Given the description of an element on the screen output the (x, y) to click on. 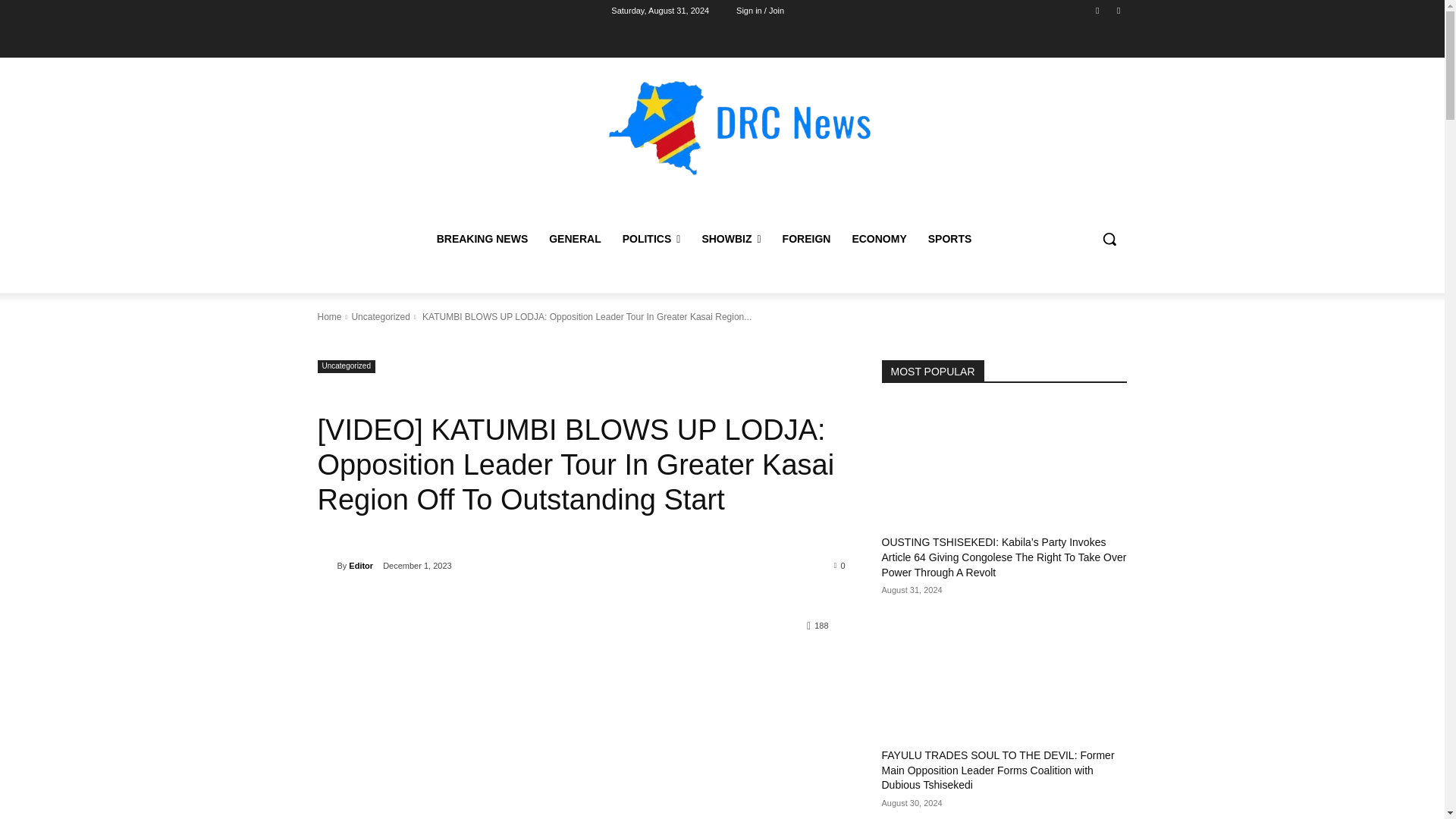
POLITICS (651, 238)
BREAKING NEWS (482, 238)
Twitter (1117, 9)
SHOWBIZ (730, 238)
GENERAL (574, 238)
Facebook (1097, 9)
